Given the description of an element on the screen output the (x, y) to click on. 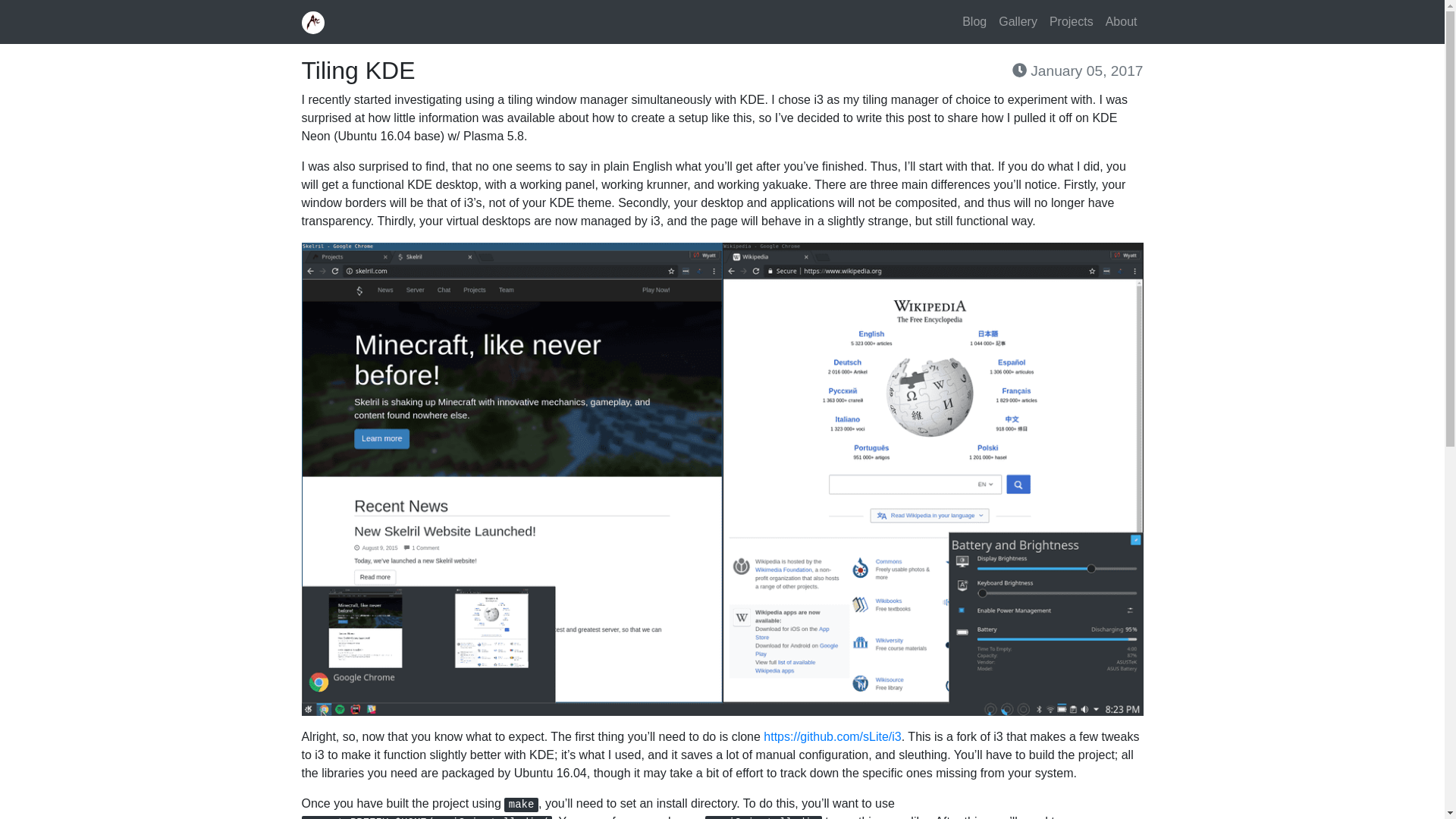
Blog (974, 21)
Gallery (1017, 21)
About (1120, 21)
Projects (1071, 21)
